Given the description of an element on the screen output the (x, y) to click on. 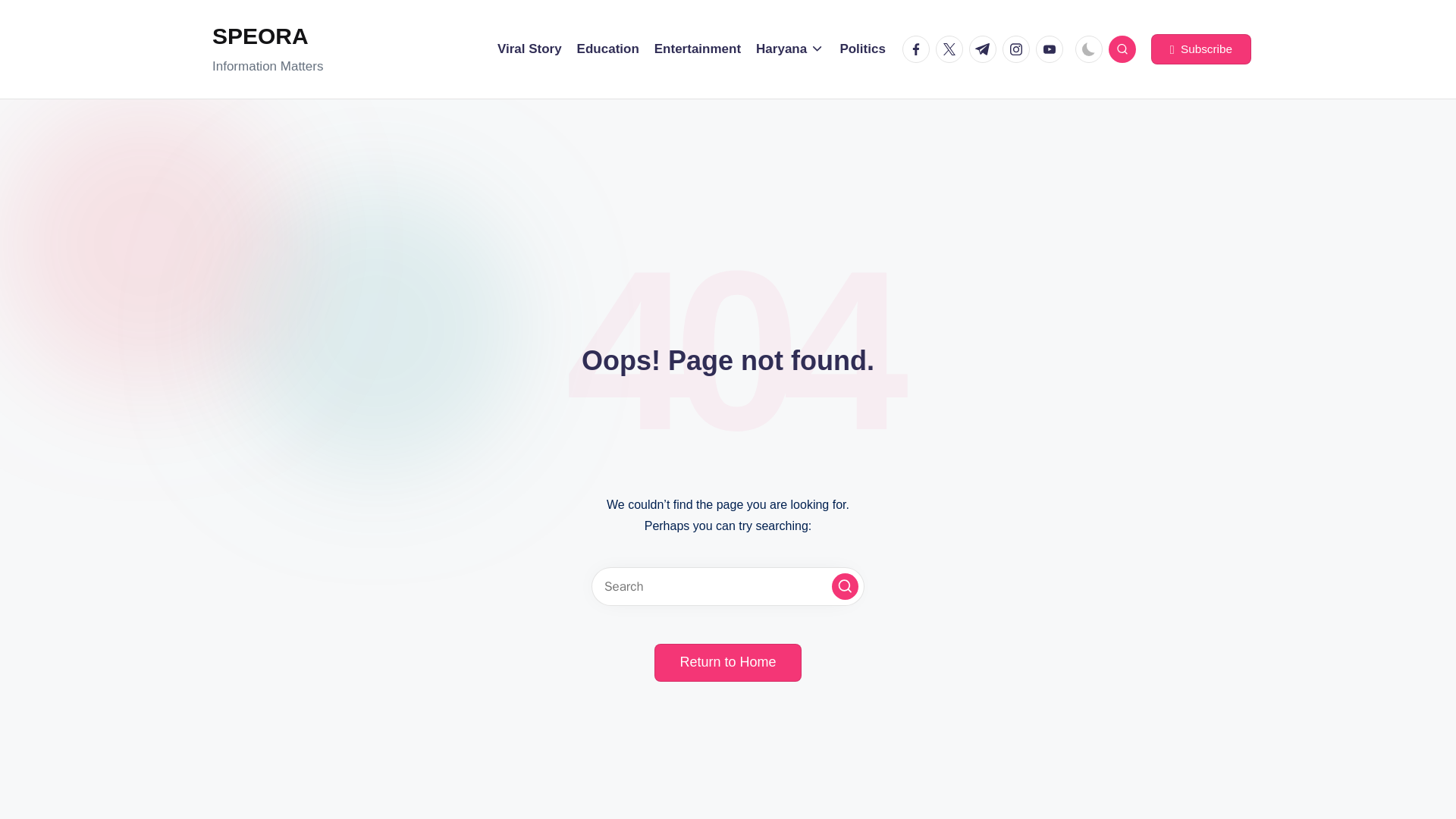
Education (607, 48)
Politics (862, 48)
twitter.com (952, 49)
Viral Story (529, 48)
instagram.com (1019, 49)
youtube.com (1051, 49)
facebook.com (919, 49)
SPEORA (267, 36)
Haryana (789, 48)
Return to Home (726, 662)
